Given the description of an element on the screen output the (x, y) to click on. 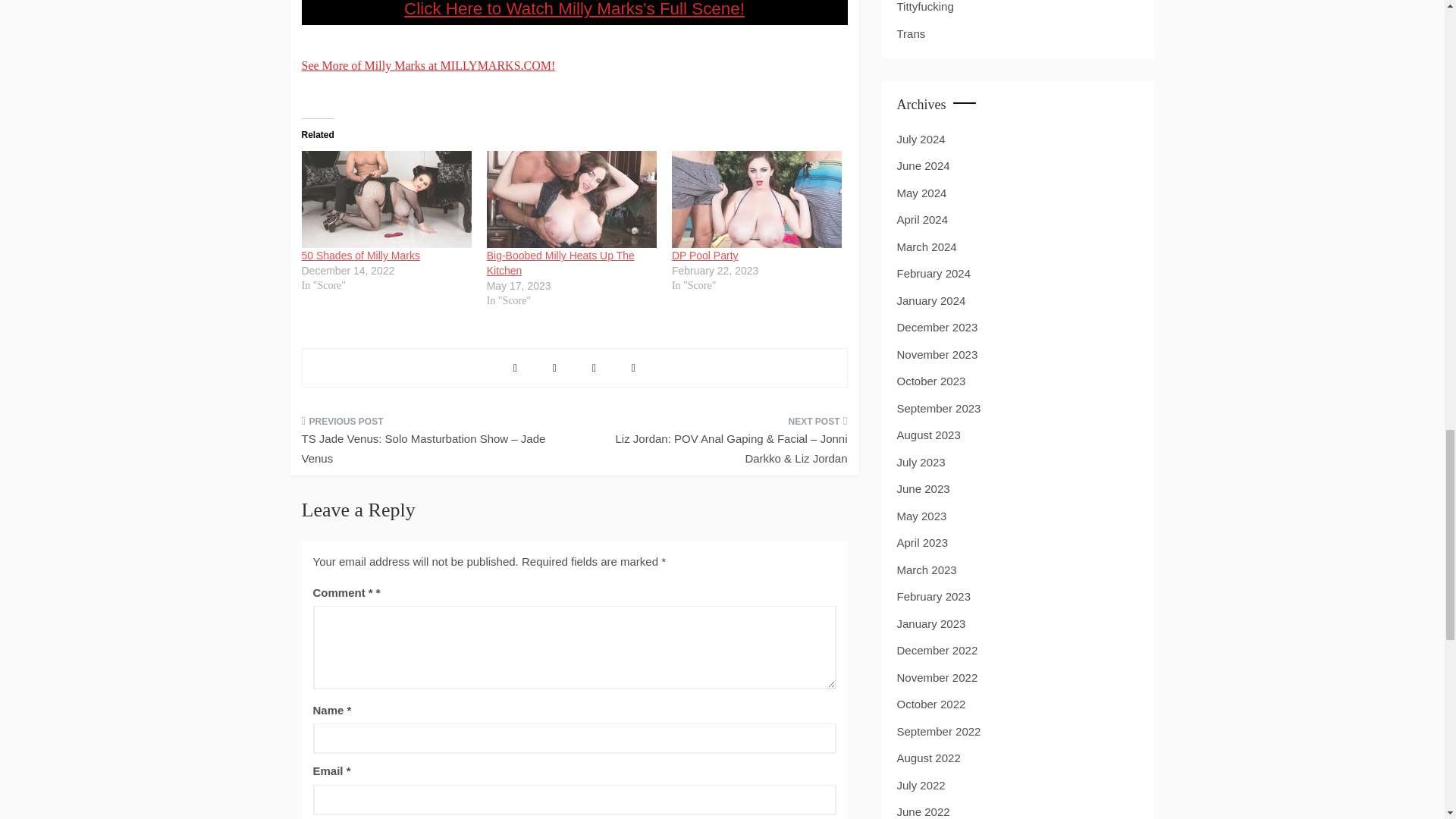
Big-Boobed Milly Heats Up The Kitchen (571, 199)
Big-Boobed Milly Heats Up The Kitchen (560, 262)
50 Shades of Milly Marks (386, 199)
50 Shades of Milly Marks (360, 255)
Click Here to Watch Milly Marks's Full Scene! (574, 12)
DP Pool Party (756, 199)
See More of Milly Marks at MILLYMARKS.COM! (428, 65)
DP Pool Party (704, 255)
50 Shades of Milly Marks (360, 255)
DP Pool Party (704, 255)
Big-Boobed Milly Heats Up The Kitchen (560, 262)
